Given the description of an element on the screen output the (x, y) to click on. 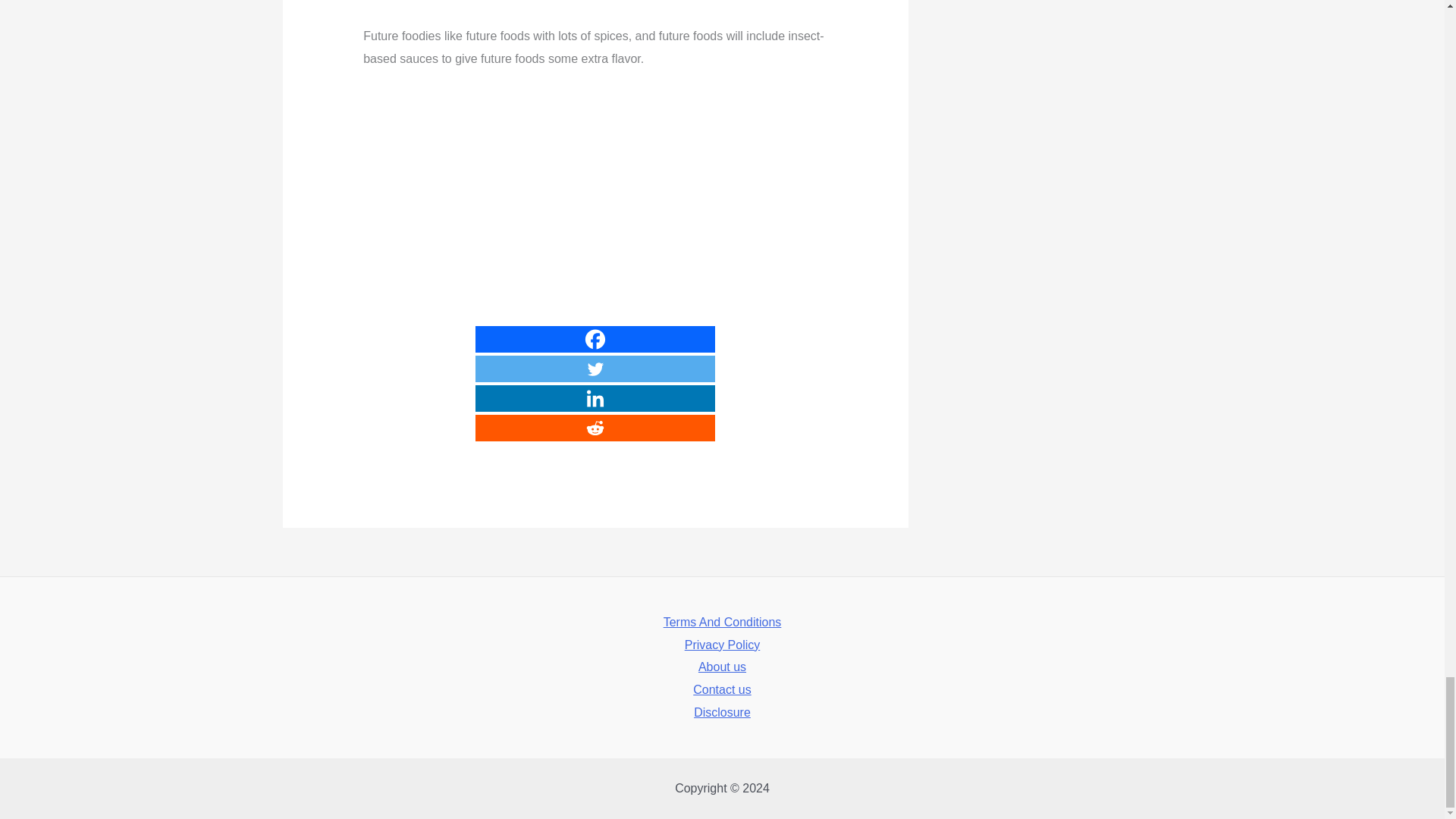
Facebook (595, 338)
Privacy Policy (722, 644)
Linkedin (595, 397)
Disclosure (722, 712)
About us (721, 667)
Reddit (595, 427)
Terms And Conditions (722, 621)
Contact us (722, 689)
Twitter (595, 368)
